Given the description of an element on the screen output the (x, y) to click on. 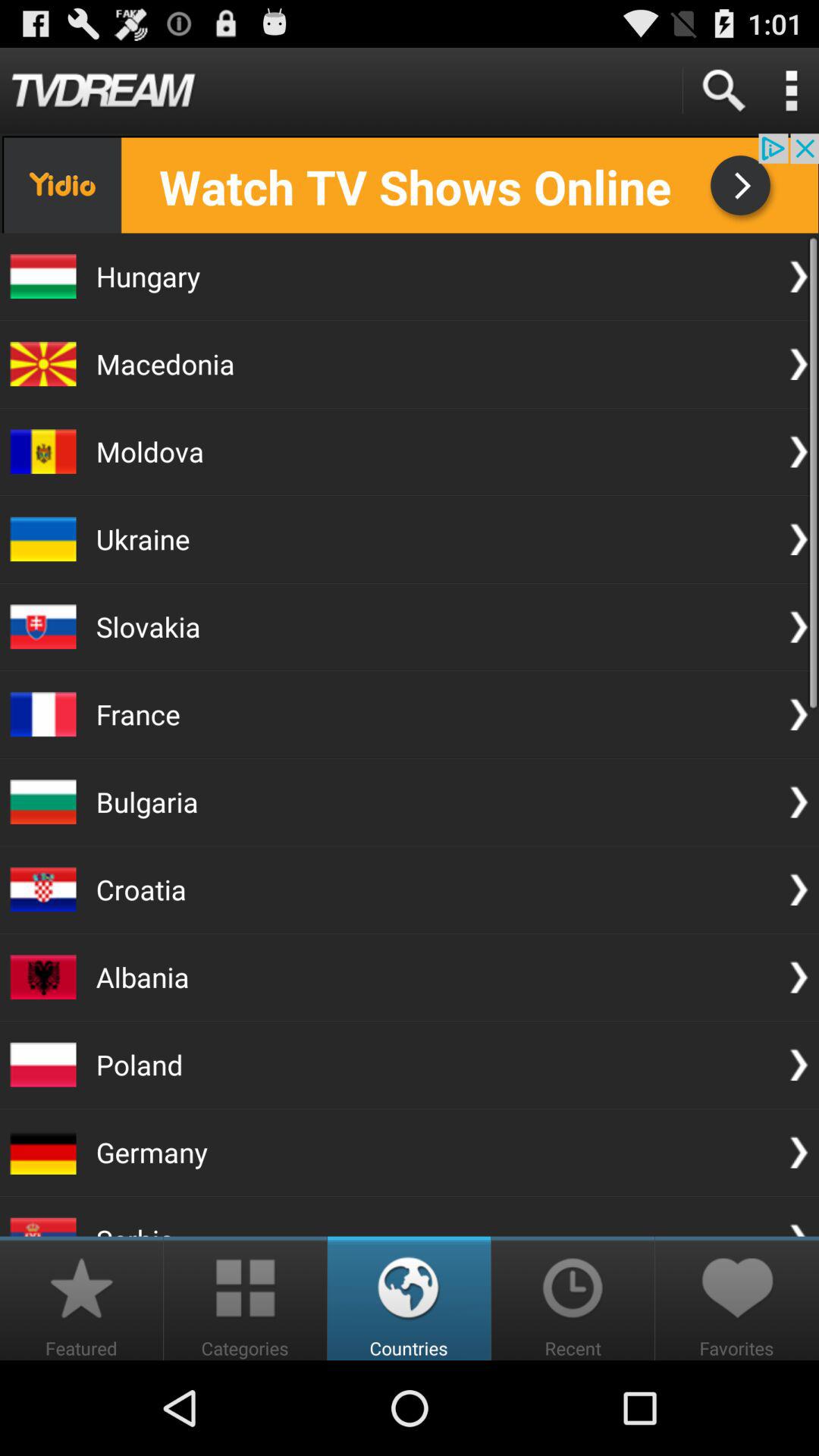
show more options (791, 90)
